Given the description of an element on the screen output the (x, y) to click on. 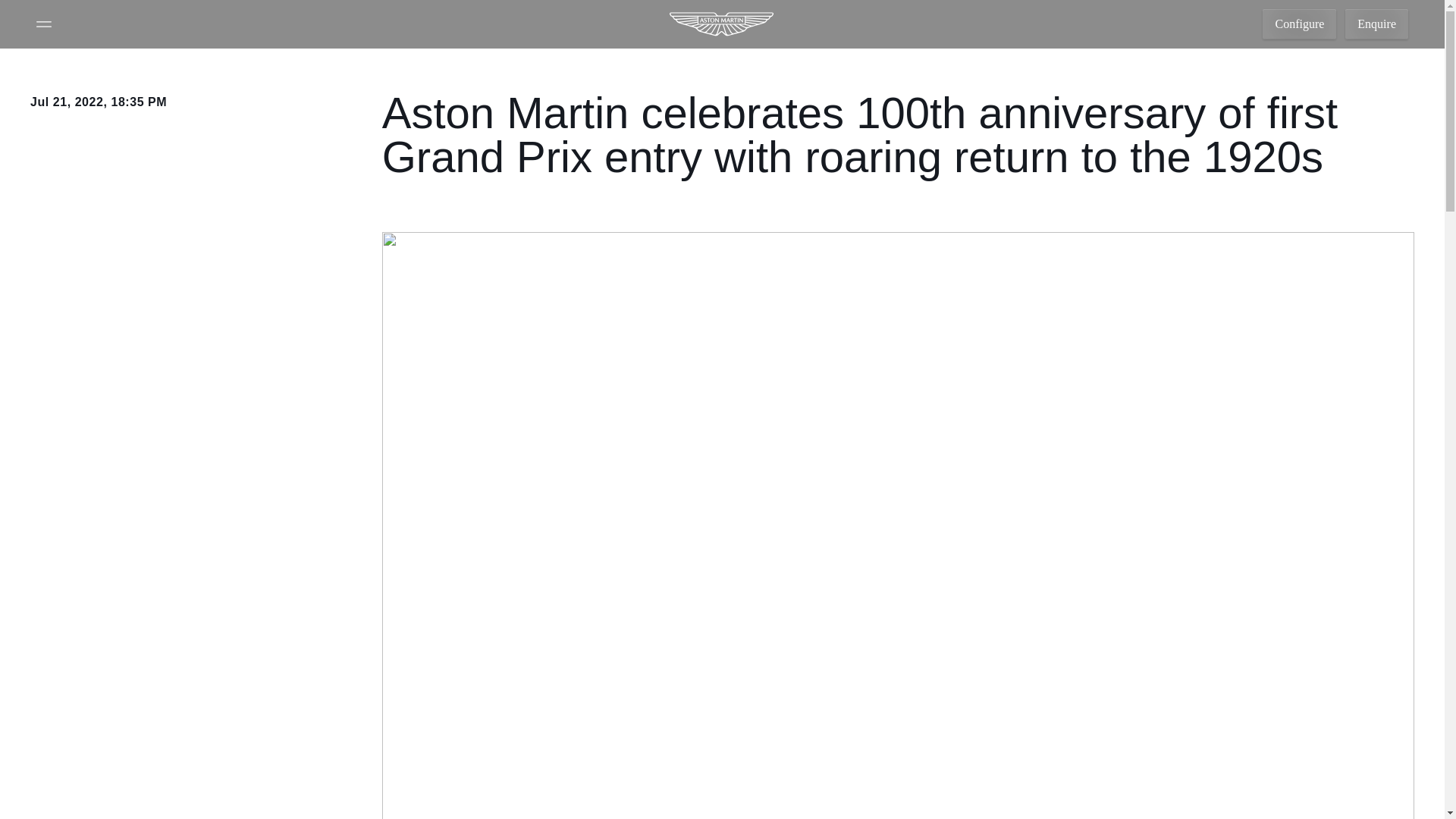
Configure (1299, 24)
Enquire (1376, 24)
